Given the description of an element on the screen output the (x, y) to click on. 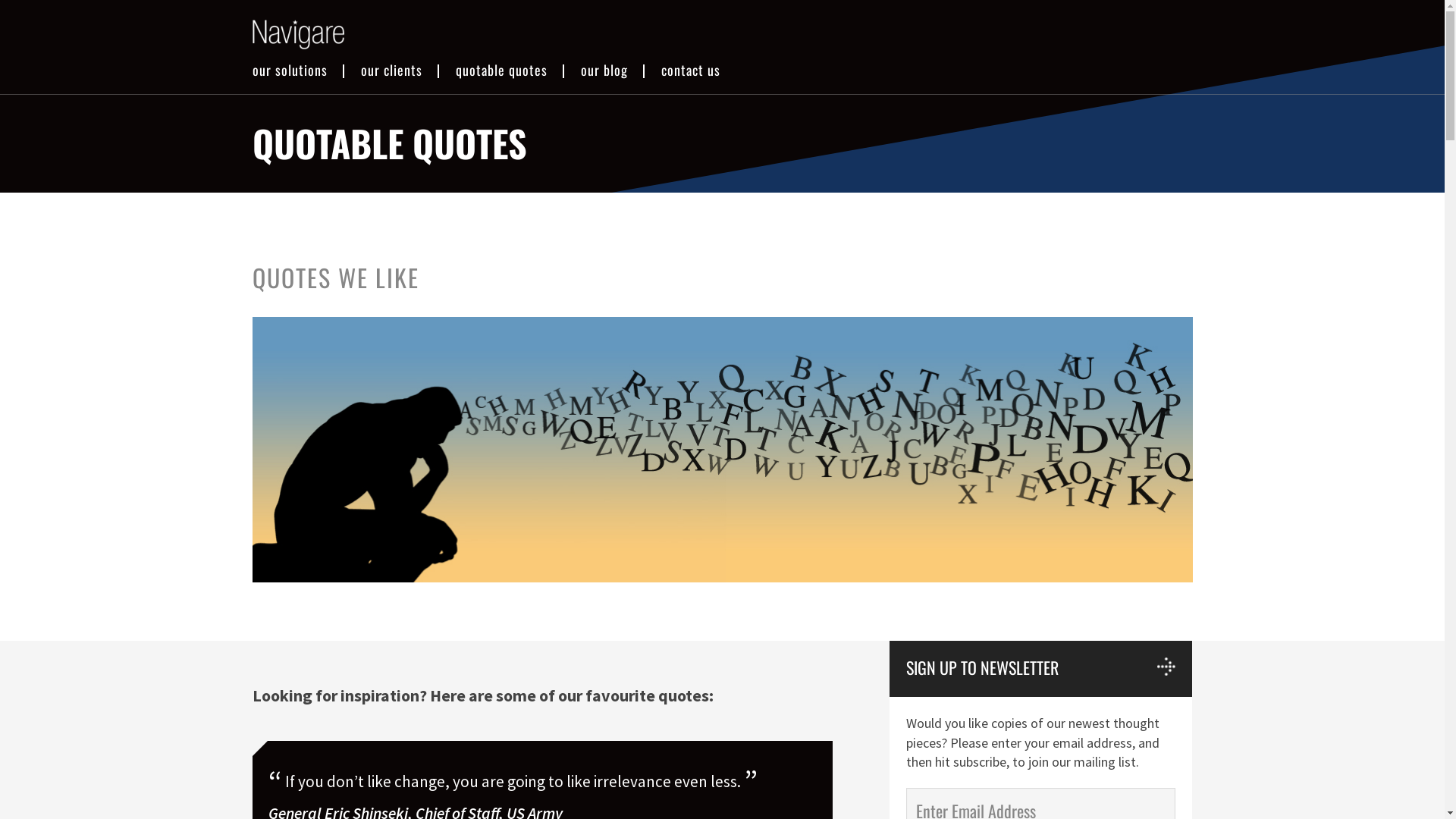
our clients Element type: text (391, 69)
quotable quotes Element type: text (500, 69)
our solutions Element type: text (288, 69)
Navigare Element type: text (297, 34)
contact us Element type: text (690, 69)
our blog Element type: text (603, 69)
